Given the description of an element on the screen output the (x, y) to click on. 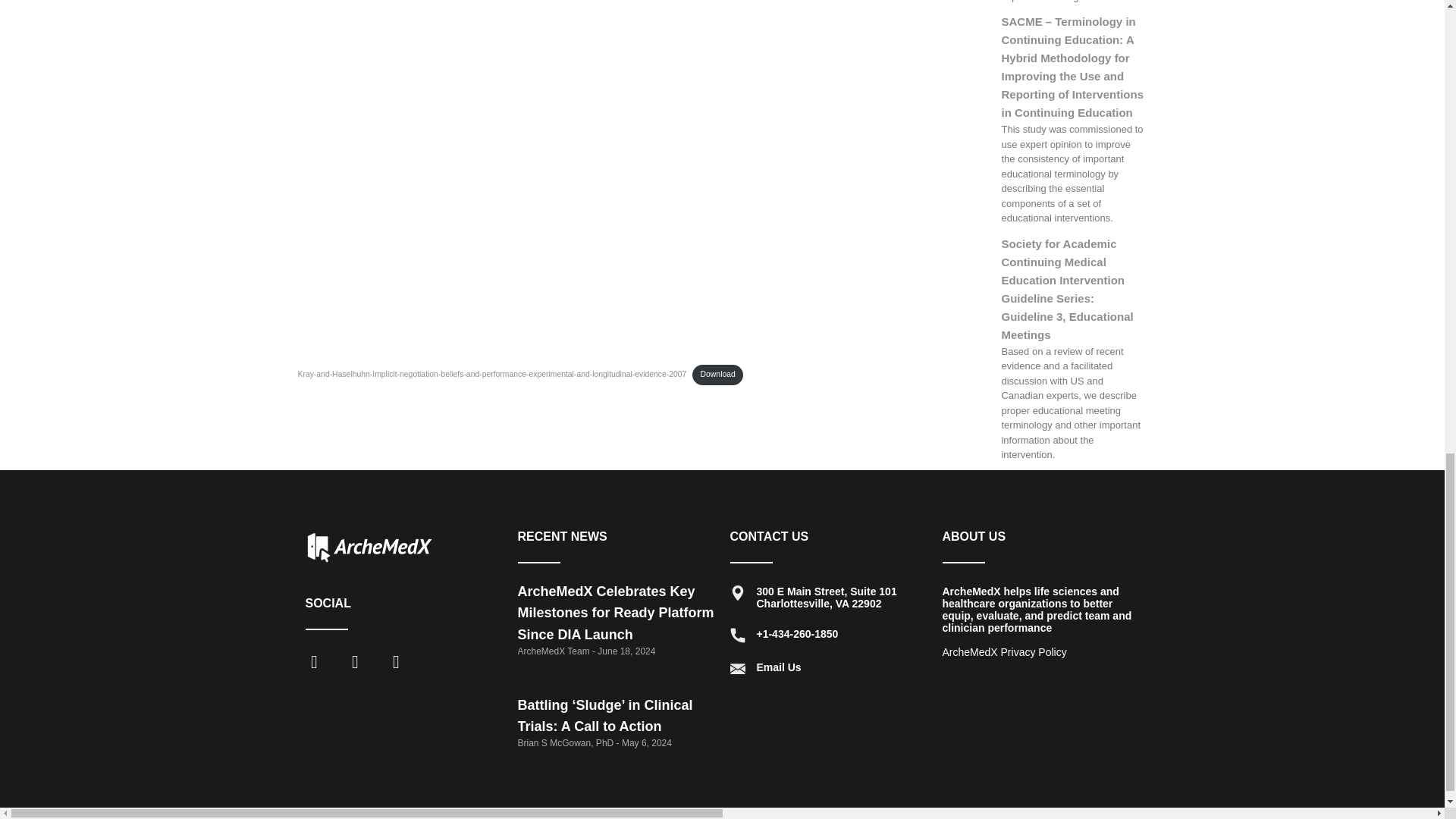
Download (717, 374)
